Given the description of an element on the screen output the (x, y) to click on. 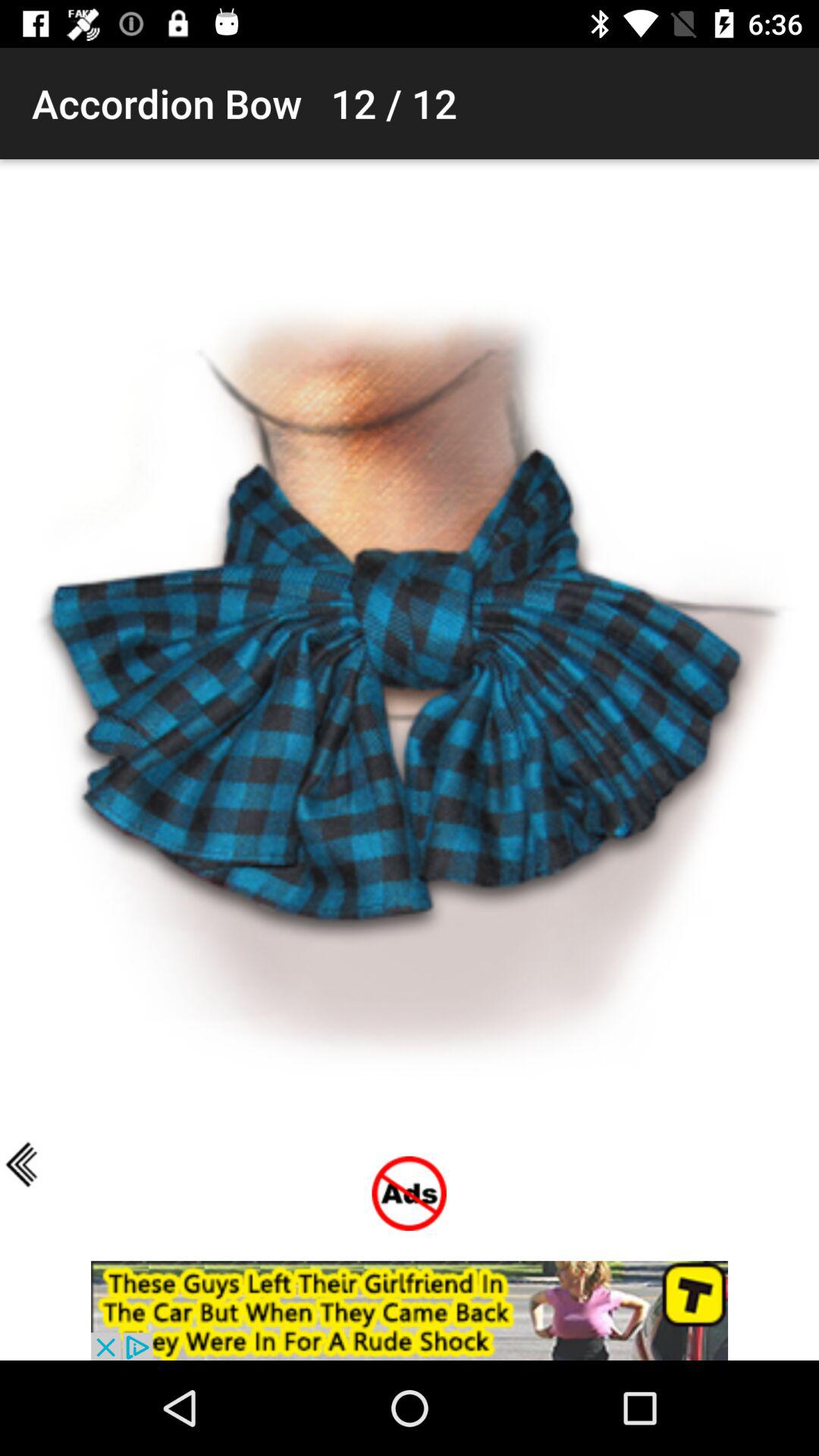
watch advertisement (409, 1310)
